Given the description of an element on the screen output the (x, y) to click on. 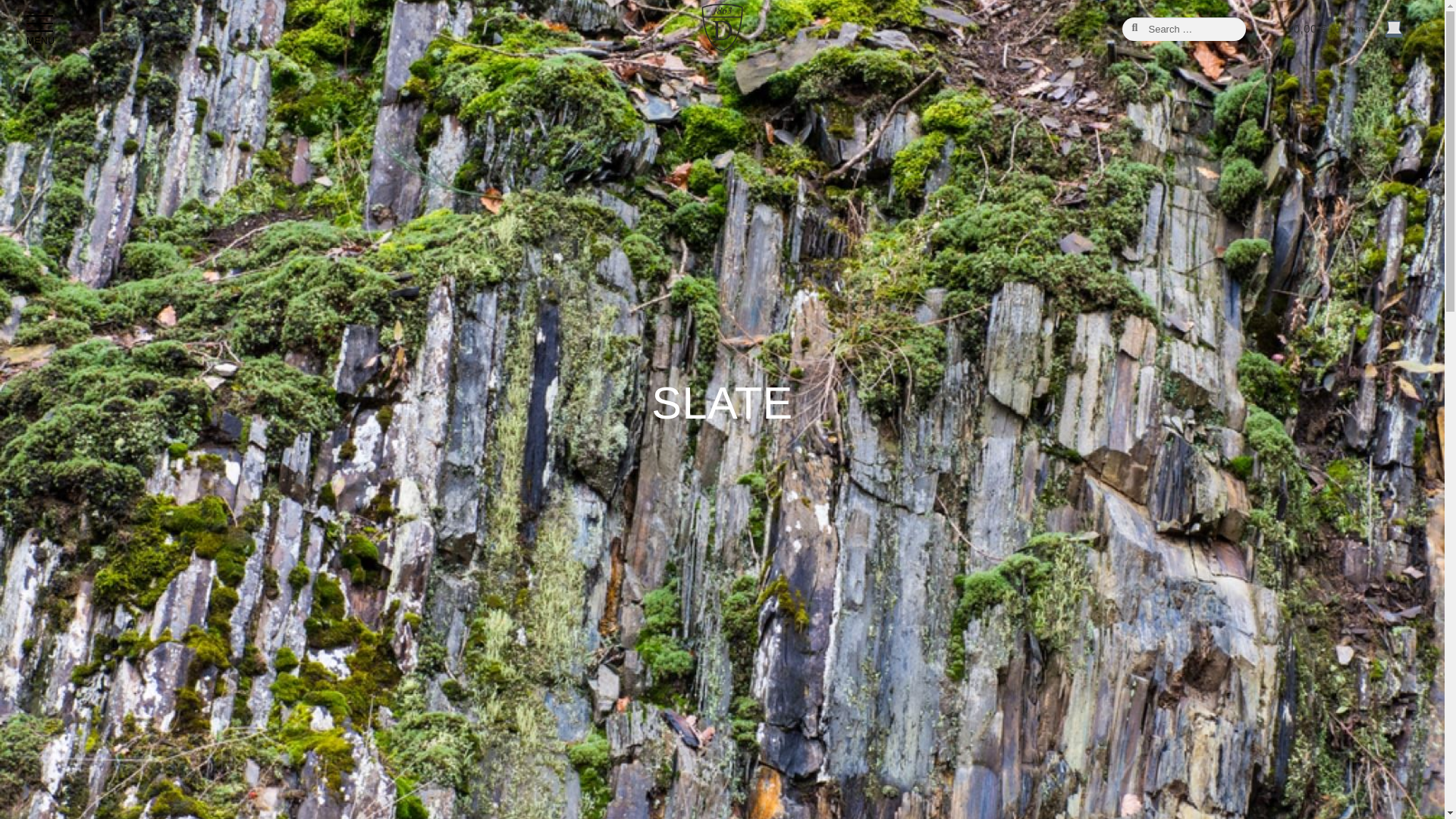
View your shopping cart (1348, 28)
